Given the description of an element on the screen output the (x, y) to click on. 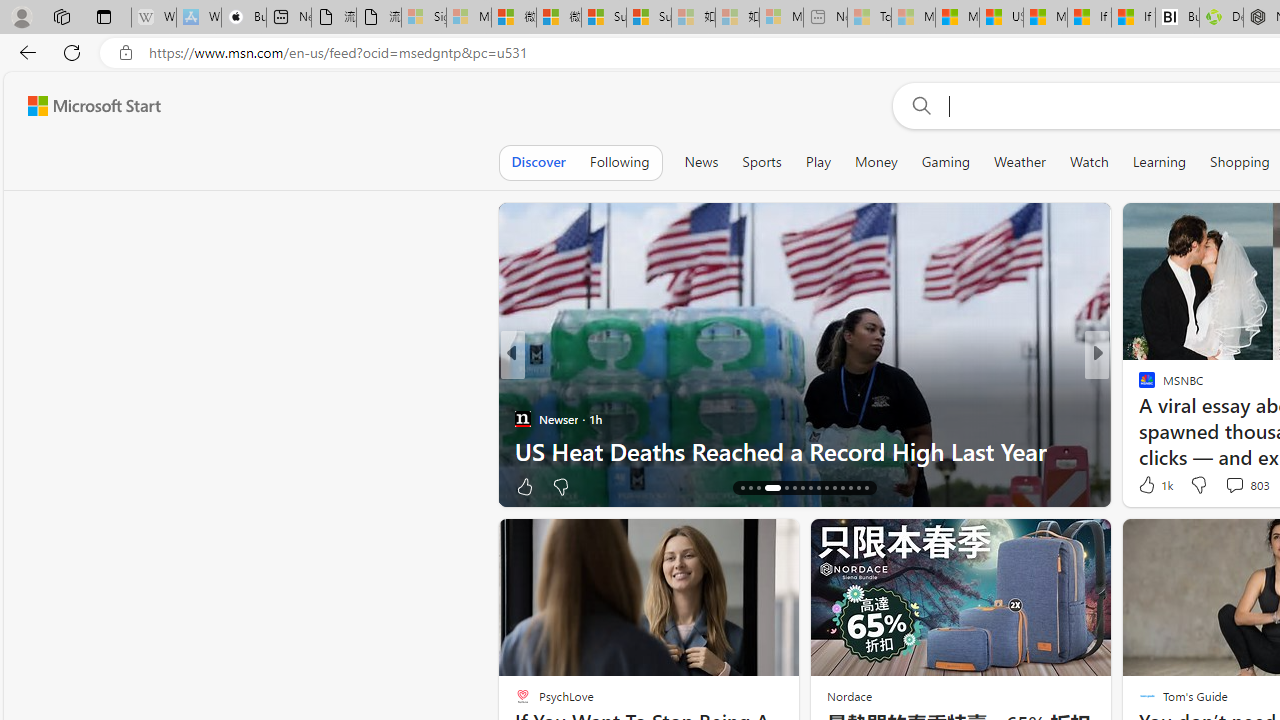
Marine life - MSN - Sleeping (913, 17)
AutomationID: tab-24 (818, 487)
Kinda Frugal (1138, 386)
View comments 102 Comment (1240, 486)
AutomationID: tab-19 (772, 487)
MSNBC (1138, 418)
Reader's Digest (1138, 418)
